Given the description of an element on the screen output the (x, y) to click on. 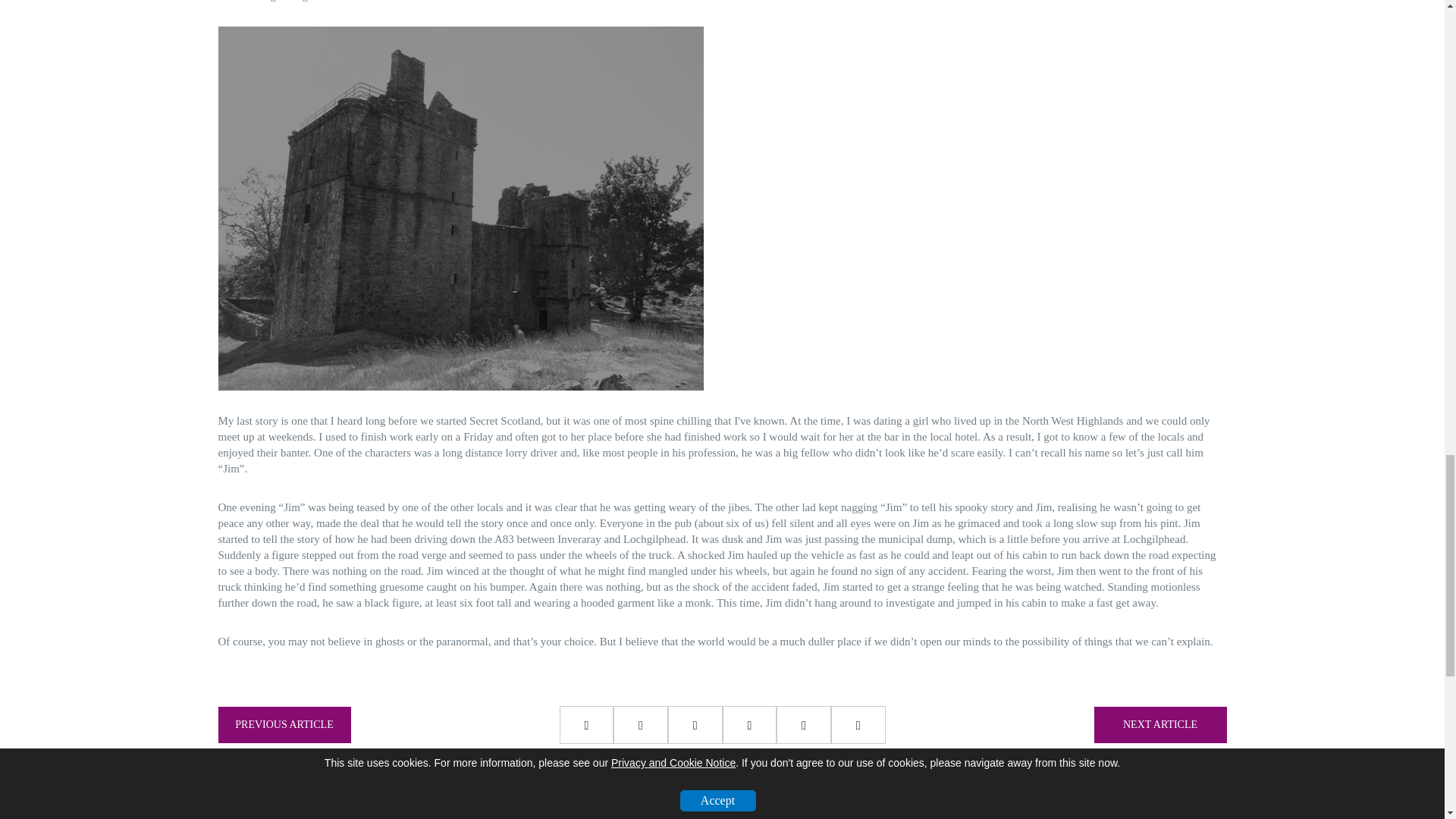
PREVIOUS ARTICLE (284, 724)
NEXT ARTICLE (1159, 724)
